Given the description of an element on the screen output the (x, y) to click on. 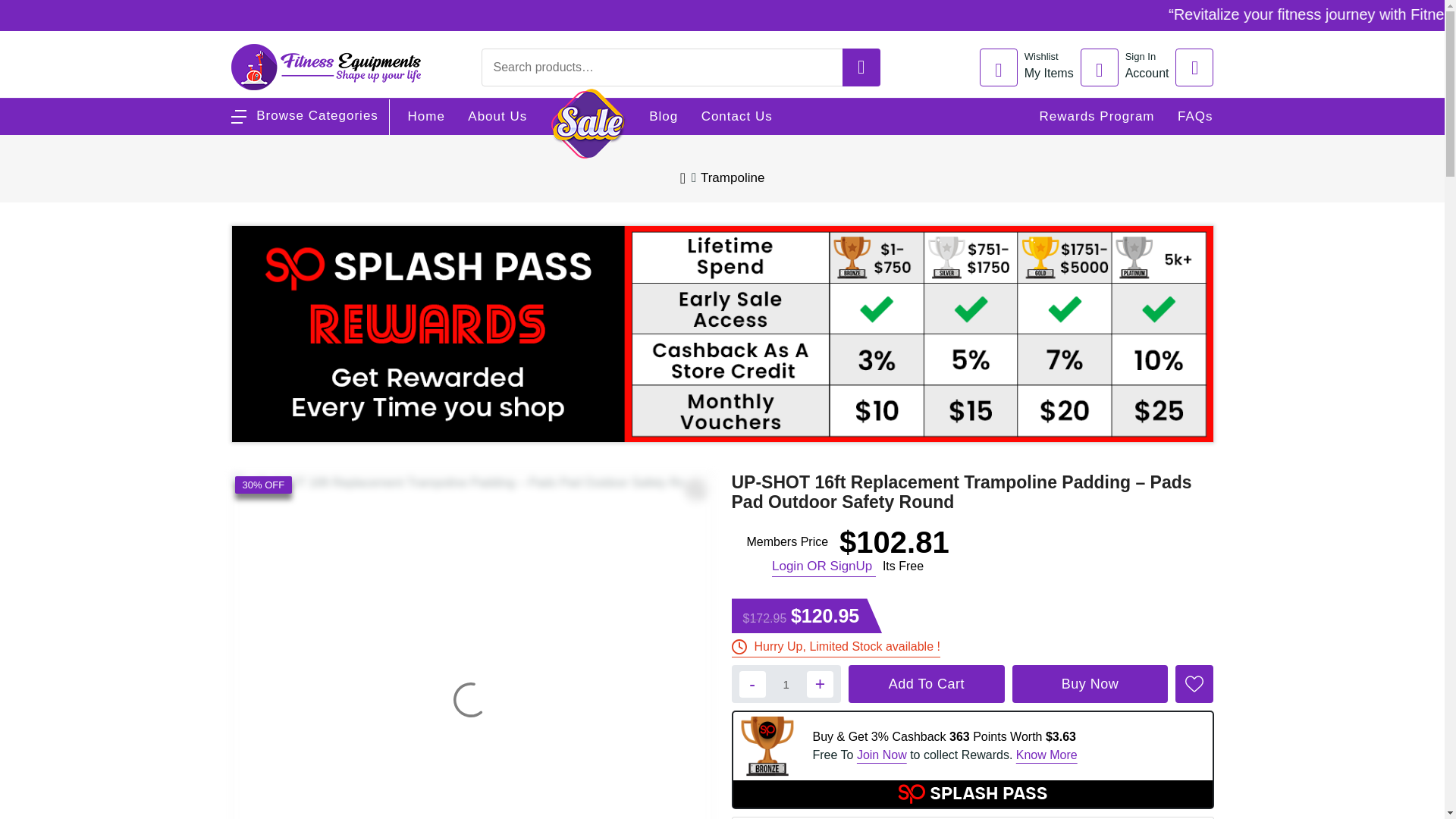
FAQs (1194, 116)
Search (1363, 17)
Sale (588, 123)
Rewards Program (1096, 116)
Contact Us (737, 116)
1 (785, 683)
Home (426, 116)
About Us (1128, 67)
